Given the description of an element on the screen output the (x, y) to click on. 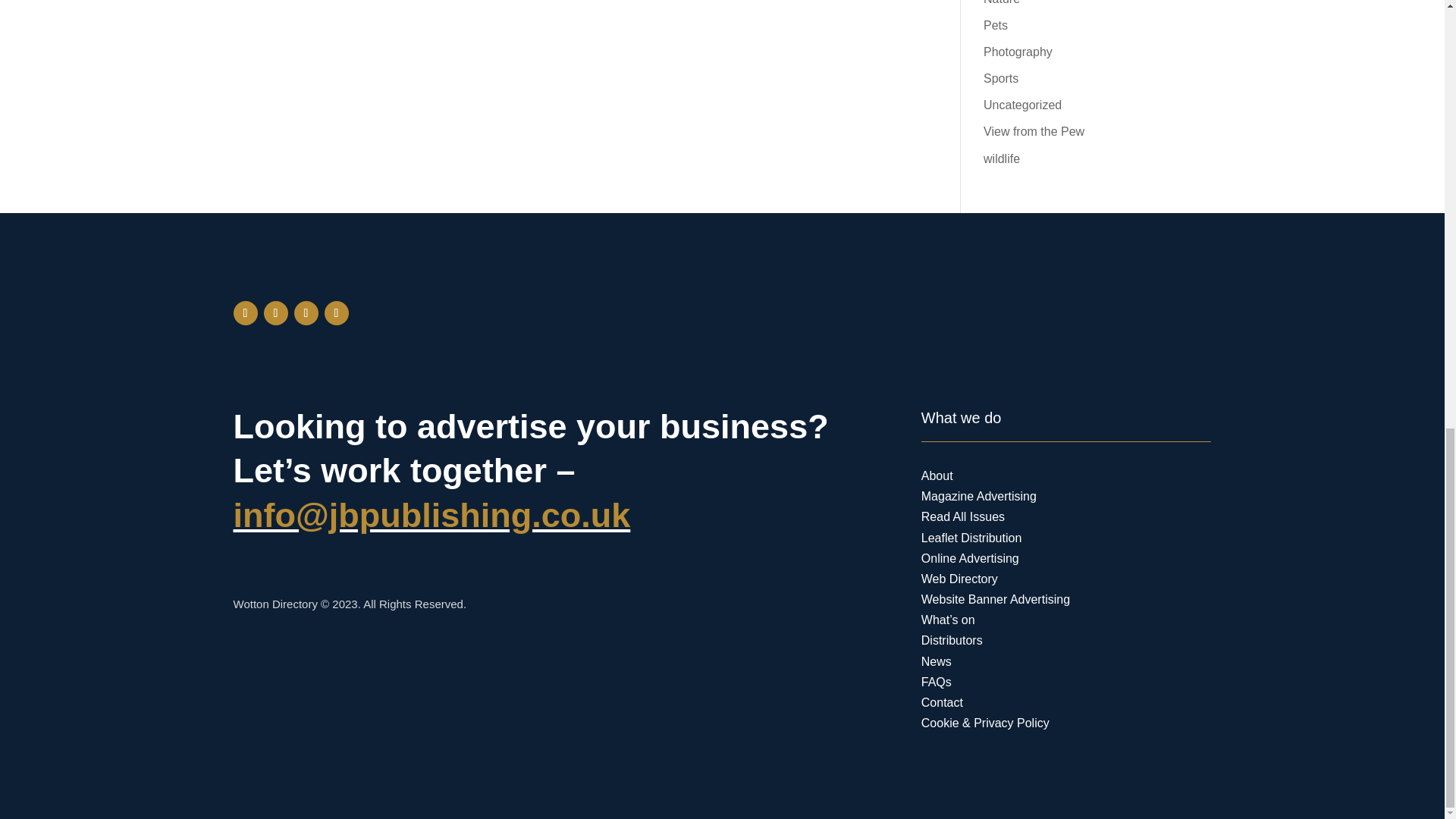
Follow on X (275, 313)
Follow on Instagram (306, 313)
Follow on LinkedIn (336, 313)
Follow on Facebook (244, 313)
